Given the description of an element on the screen output the (x, y) to click on. 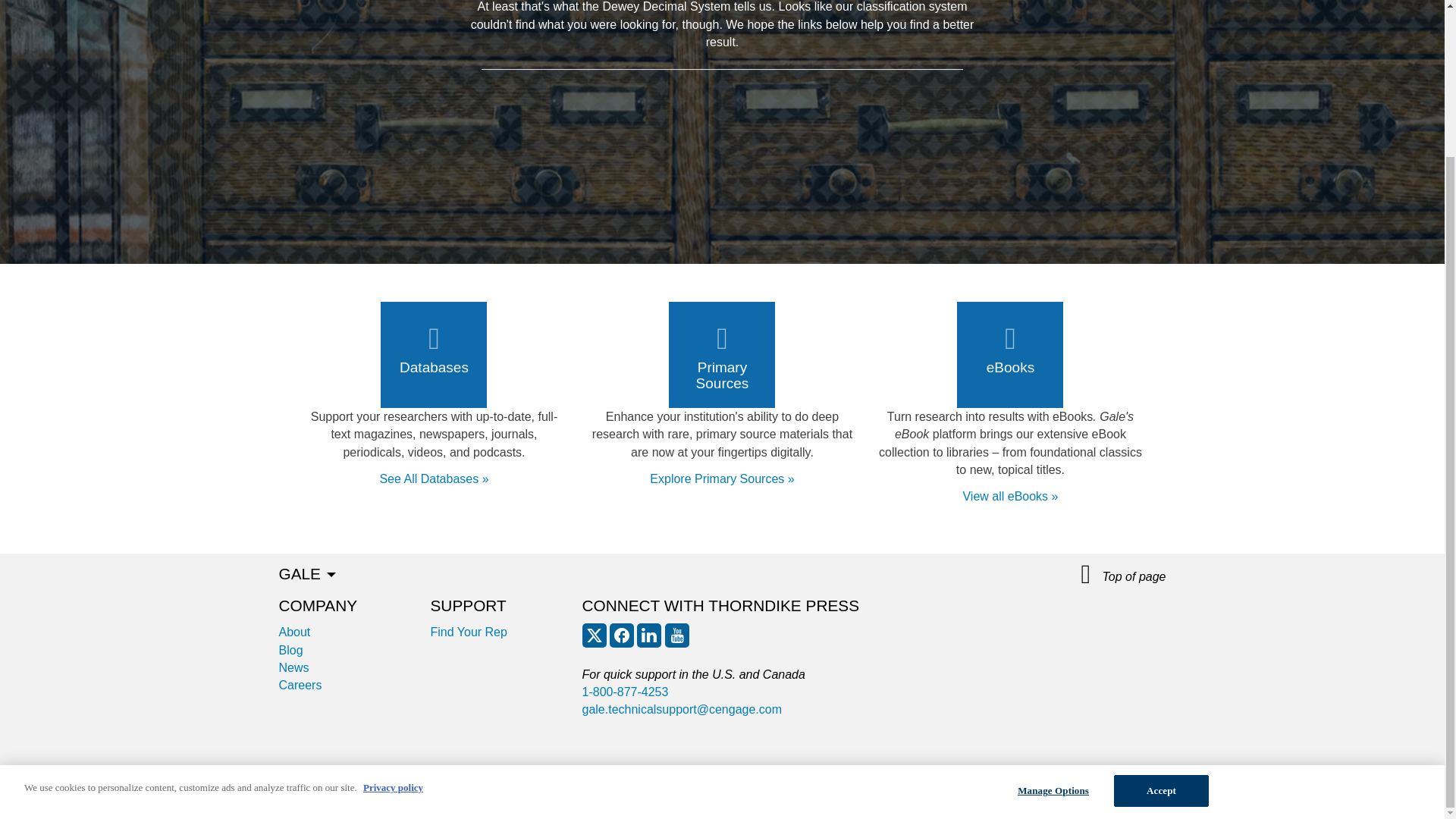
Top of page (1123, 574)
Top of page (1123, 574)
